Given the description of an element on the screen output the (x, y) to click on. 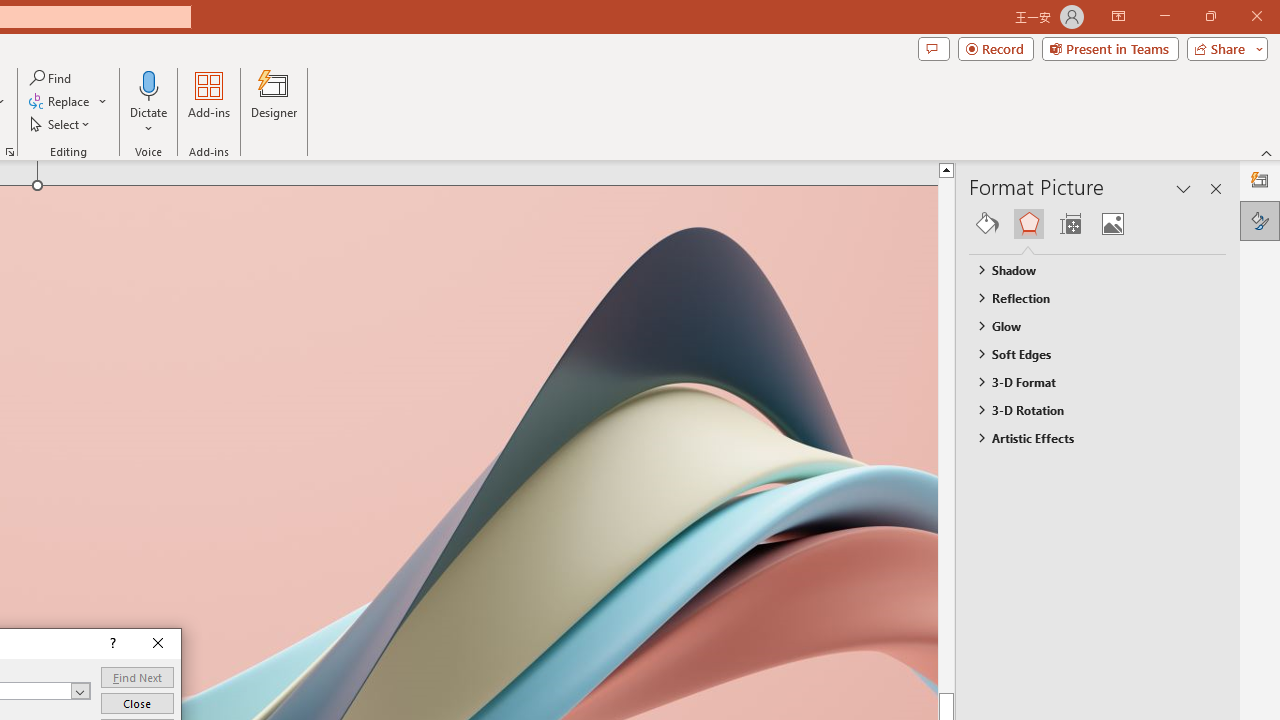
Share (1223, 48)
Effects (1028, 223)
Open (79, 691)
Collapse the Ribbon (1267, 152)
Present in Teams (1109, 48)
Select (61, 124)
Soft Edges (1088, 353)
Reflection (1088, 297)
Dictate (149, 84)
Replace... (60, 101)
Close pane (1215, 188)
